Given the description of an element on the screen output the (x, y) to click on. 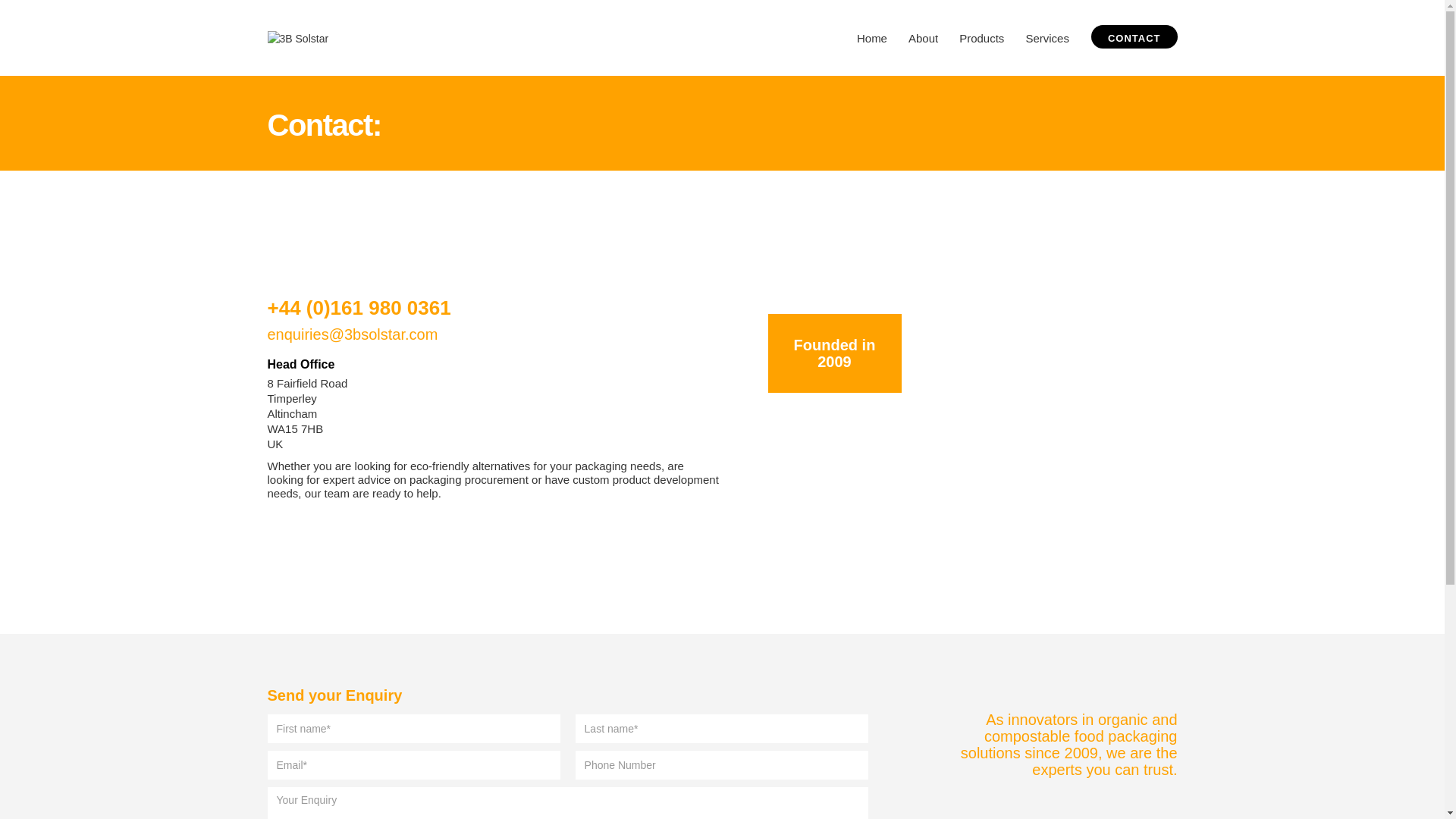
About Element type: text (922, 37)
CONTACT Element type: text (1134, 35)
Home Element type: text (871, 37)
Services Element type: text (1046, 37)
enquiries@3bsolstar.com Element type: text (351, 334)
Products Element type: text (981, 37)
